Given the description of an element on the screen output the (x, y) to click on. 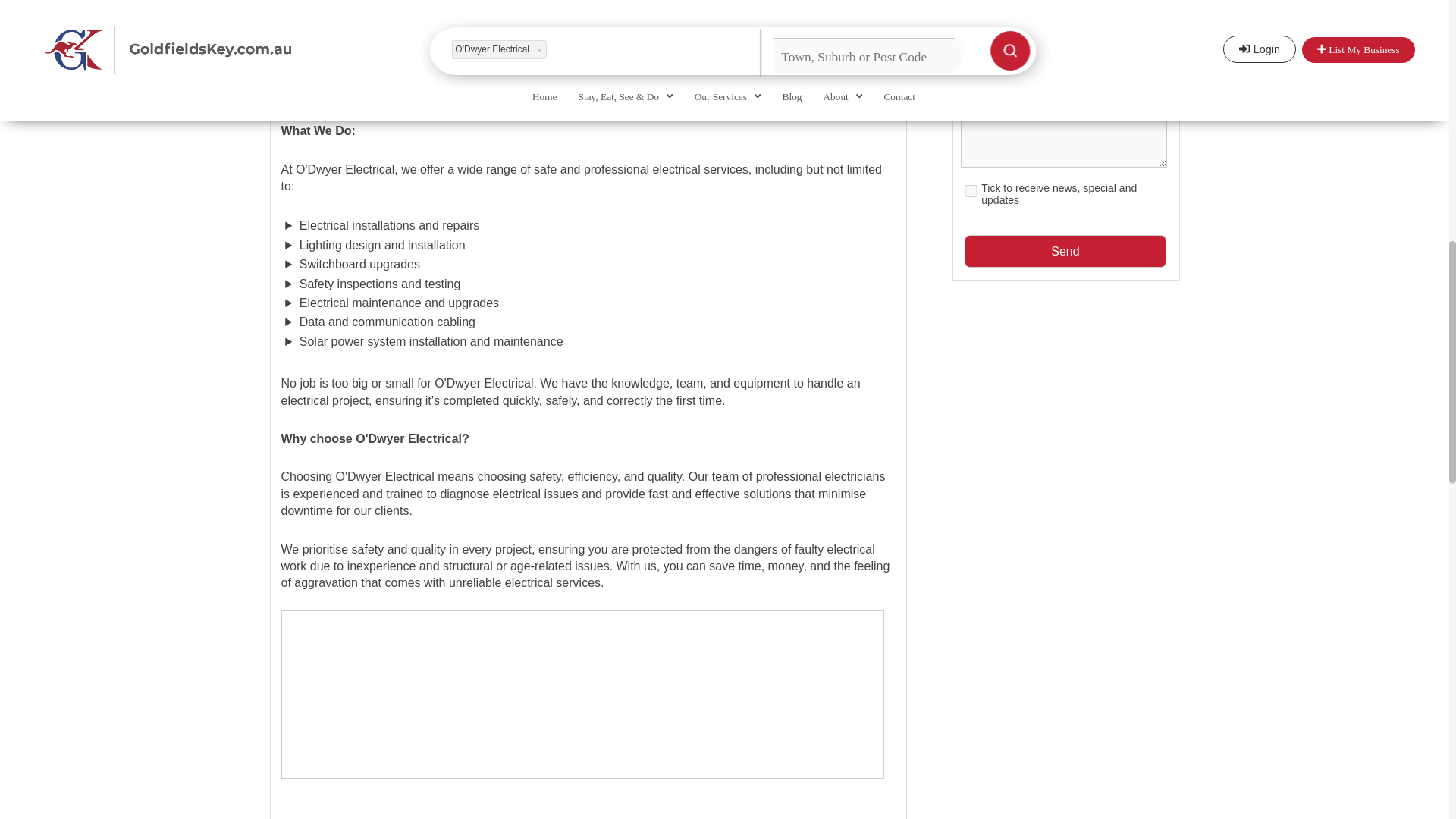
on (970, 191)
